Given the description of an element on the screen output the (x, y) to click on. 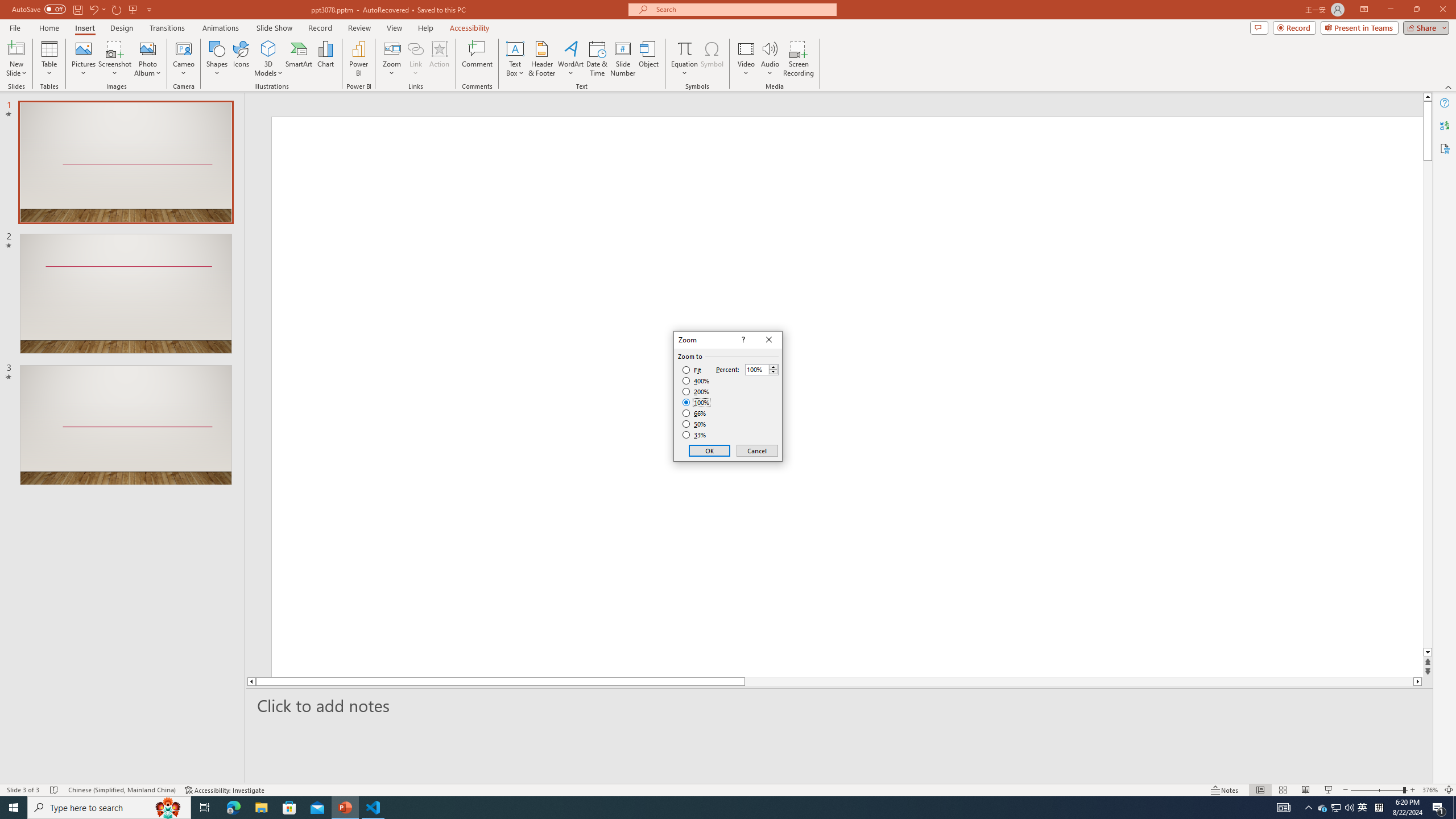
Power BI (358, 58)
